Given the description of an element on the screen output the (x, y) to click on. 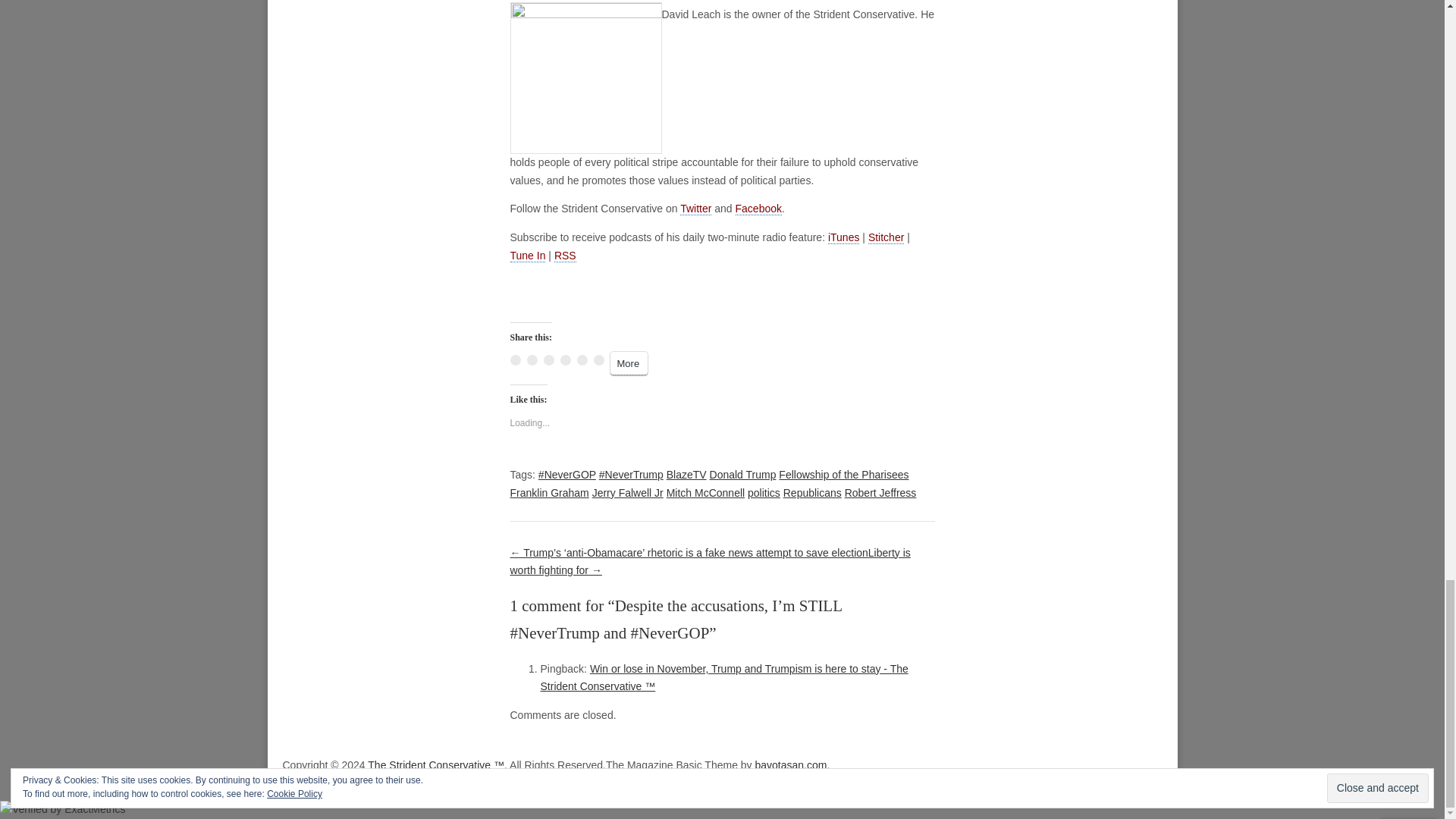
Click to share on Reddit (581, 359)
Click to share on Twitter (531, 359)
Click to share on Tumblr (598, 359)
Click to share on LinkedIn (548, 359)
Click to share on Pinterest (564, 359)
Click to share on Facebook (514, 359)
